Given the description of an element on the screen output the (x, y) to click on. 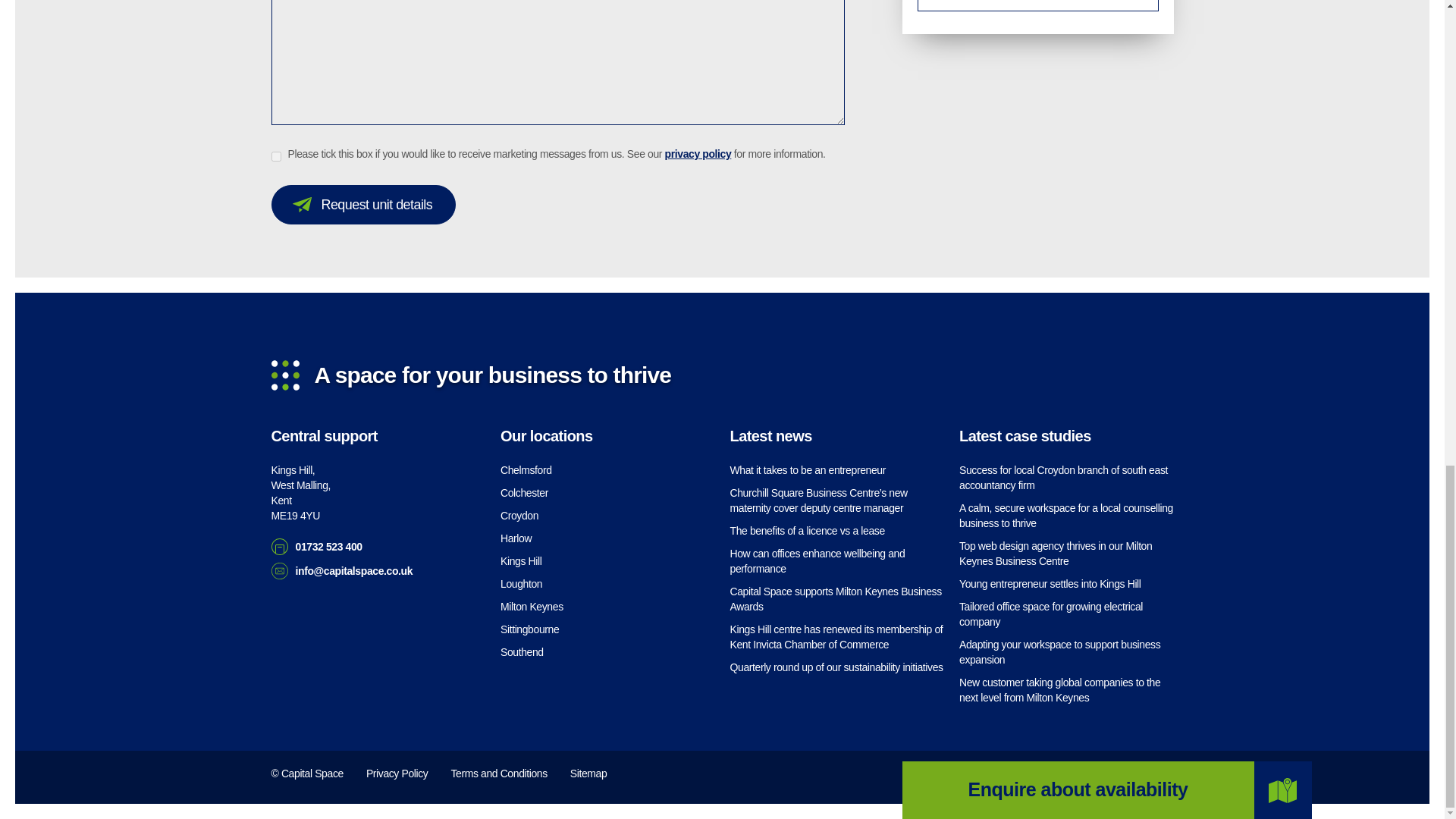
Request unit details (363, 204)
Yes (275, 156)
privacy policy (698, 153)
Reward Scheme (1037, 5)
Request unit details (363, 204)
